Given the description of an element on the screen output the (x, y) to click on. 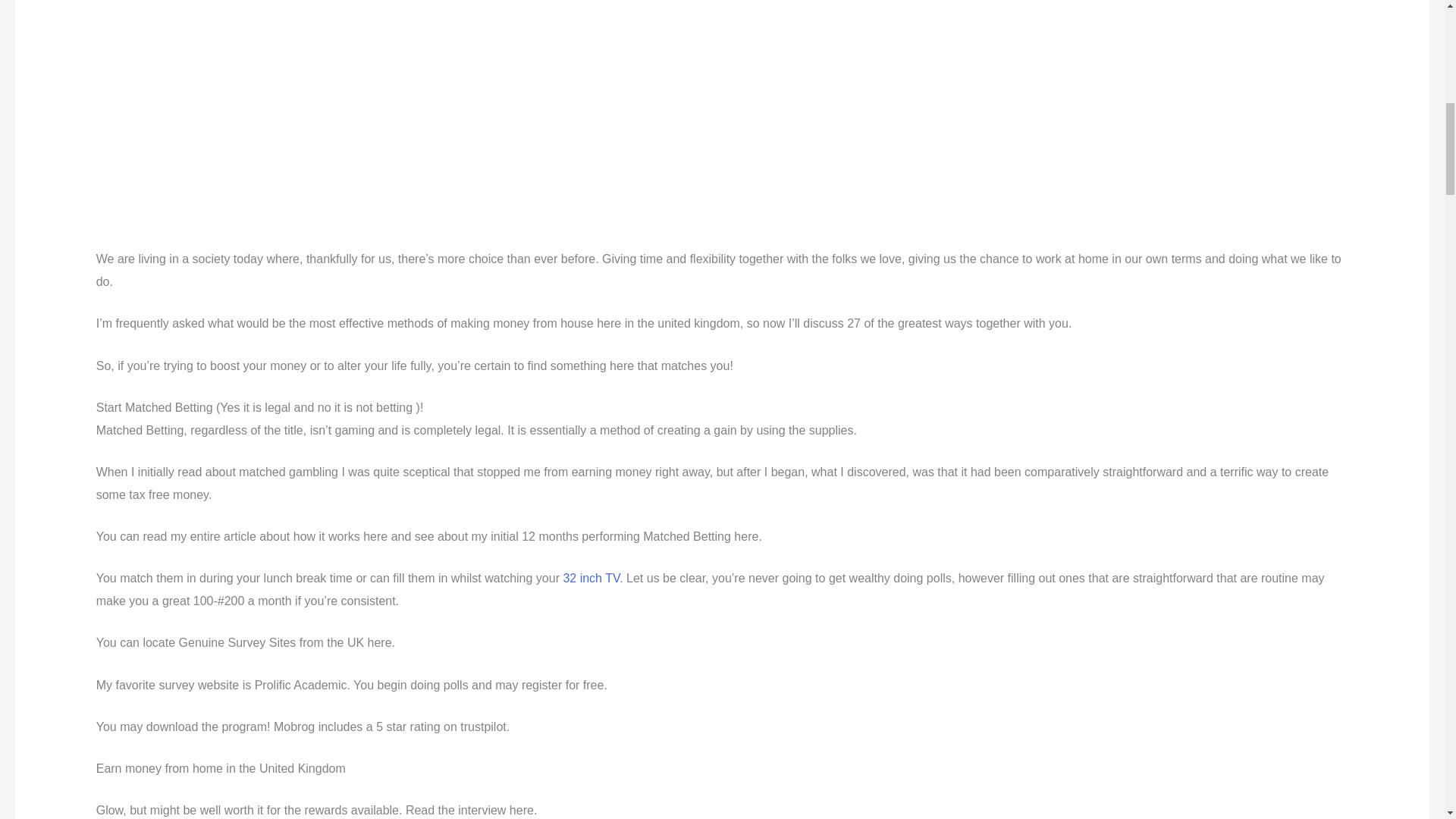
32 inch TV (591, 577)
